Given the description of an element on the screen output the (x, y) to click on. 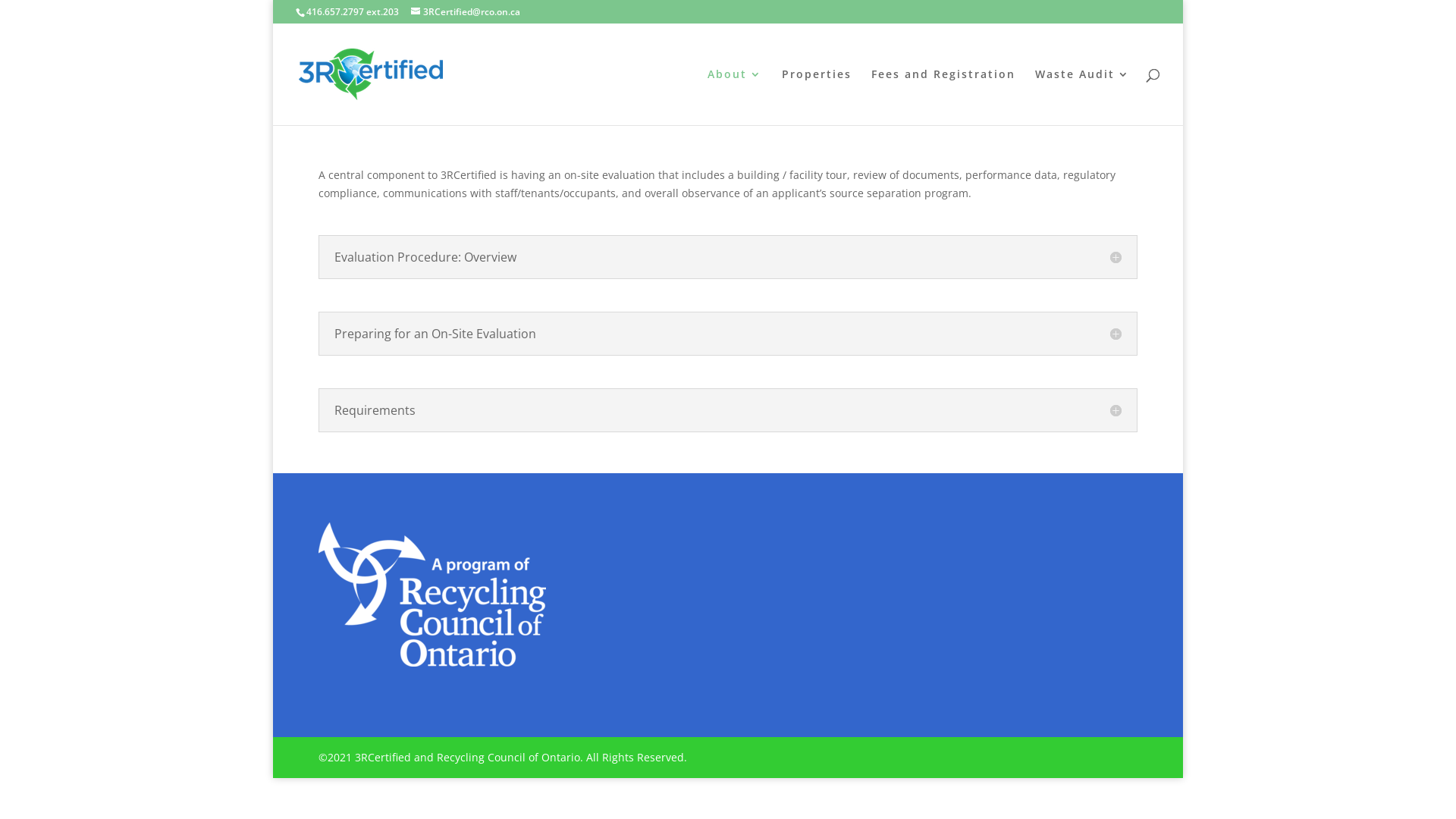
3RCertified@rco.on.ca Element type: text (465, 11)
Fees and Registration Element type: text (943, 97)
About Element type: text (734, 97)
Waste Audit Element type: text (1082, 97)
Properties Element type: text (816, 97)
